Given the description of an element on the screen output the (x, y) to click on. 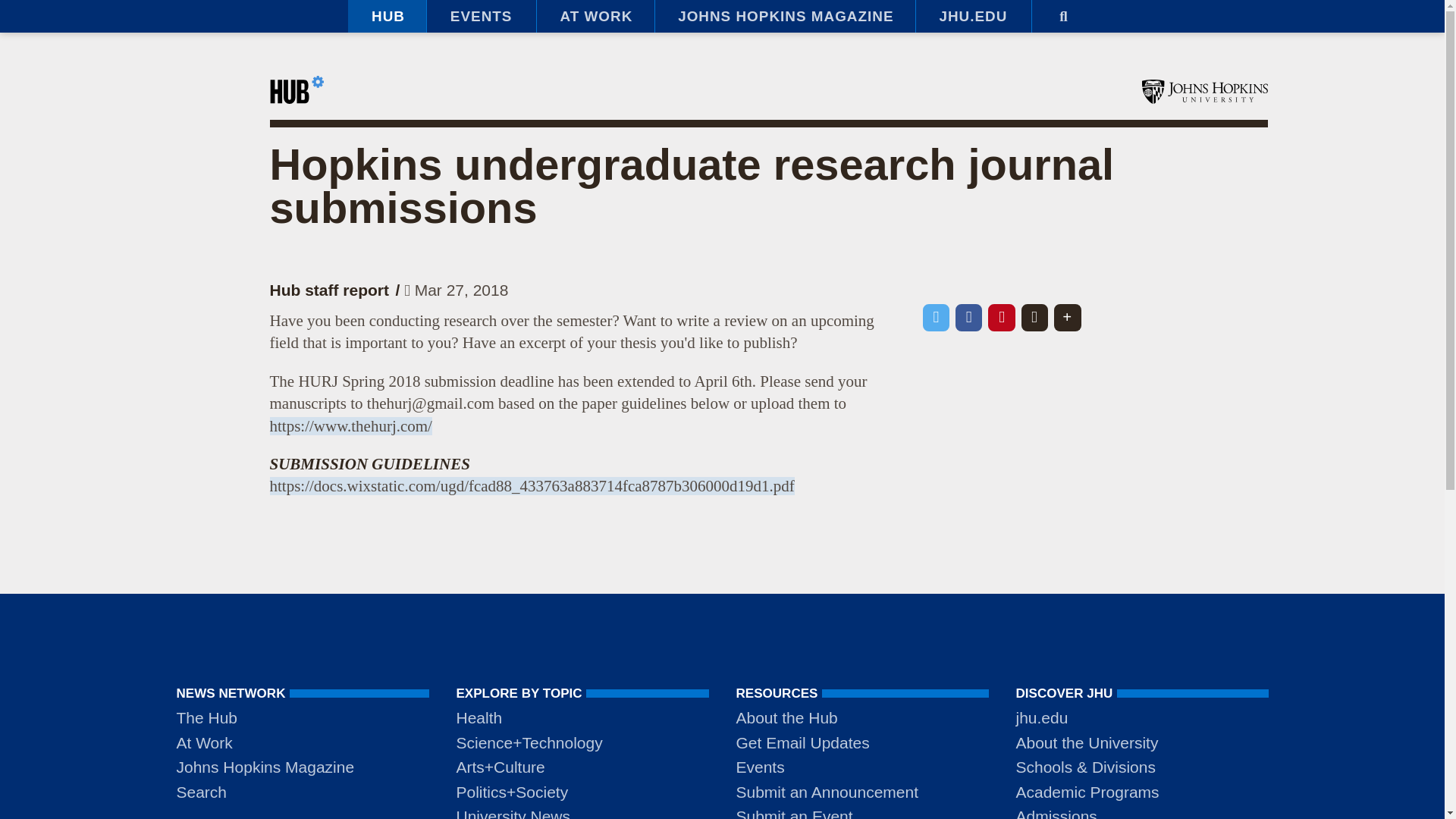
AT WORK (594, 16)
EVENTS (480, 16)
Johns Hopkins University (1204, 91)
HUB (386, 16)
JOHNS HOPKINS MAGAZINE (784, 16)
JHU.EDU (972, 16)
